Given the description of an element on the screen output the (x, y) to click on. 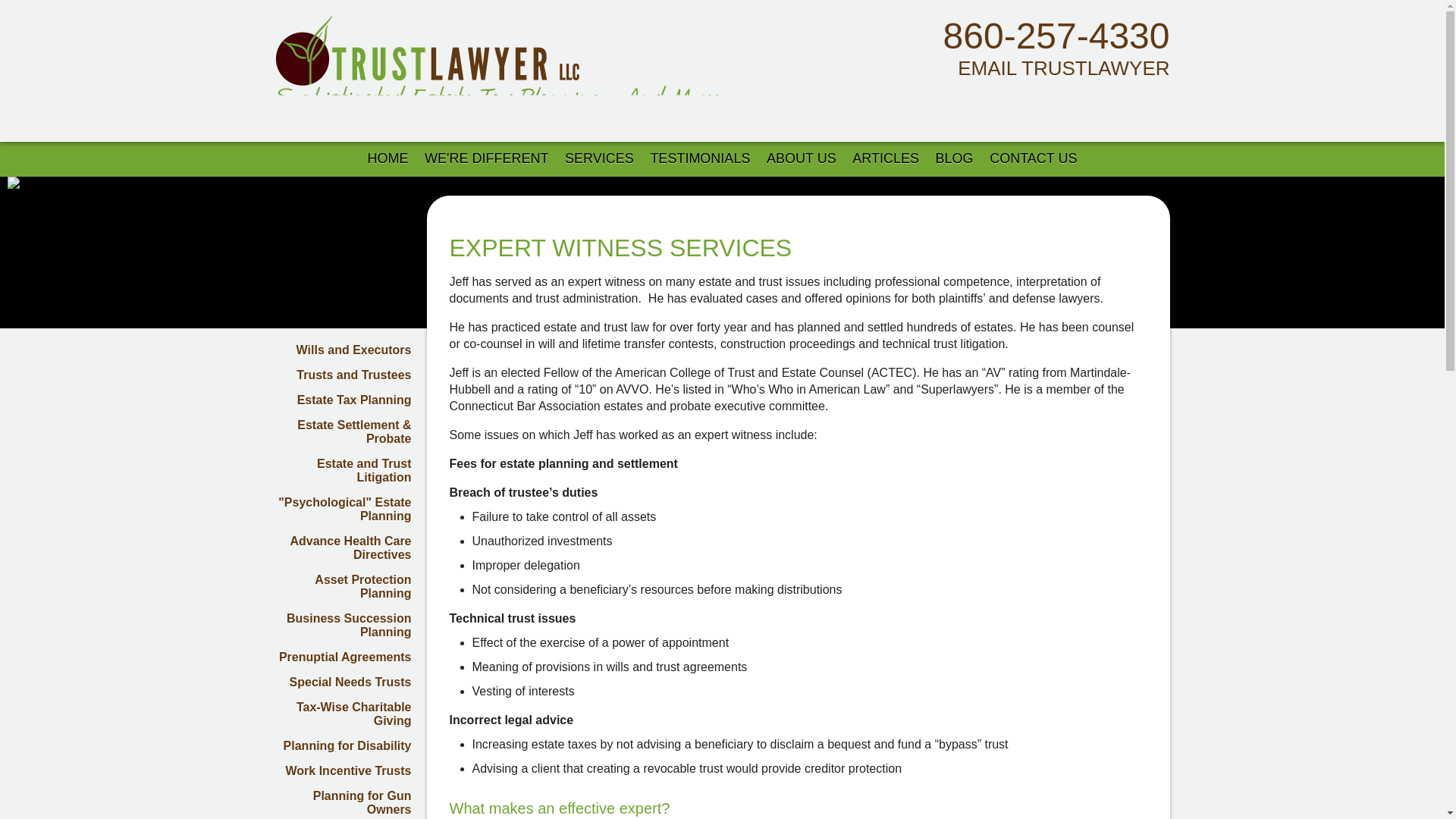
860-257-4330 (1056, 35)
Linked In (1063, 102)
Twitter (1123, 102)
EMAIL TRUSTLAWYER (1049, 67)
We're Different (486, 158)
SERVICES (599, 158)
Facebook (1093, 102)
Trust Lawyer LLC (570, 50)
HOME (387, 158)
WE'RE DIFFERENT (486, 158)
